Given the description of an element on the screen output the (x, y) to click on. 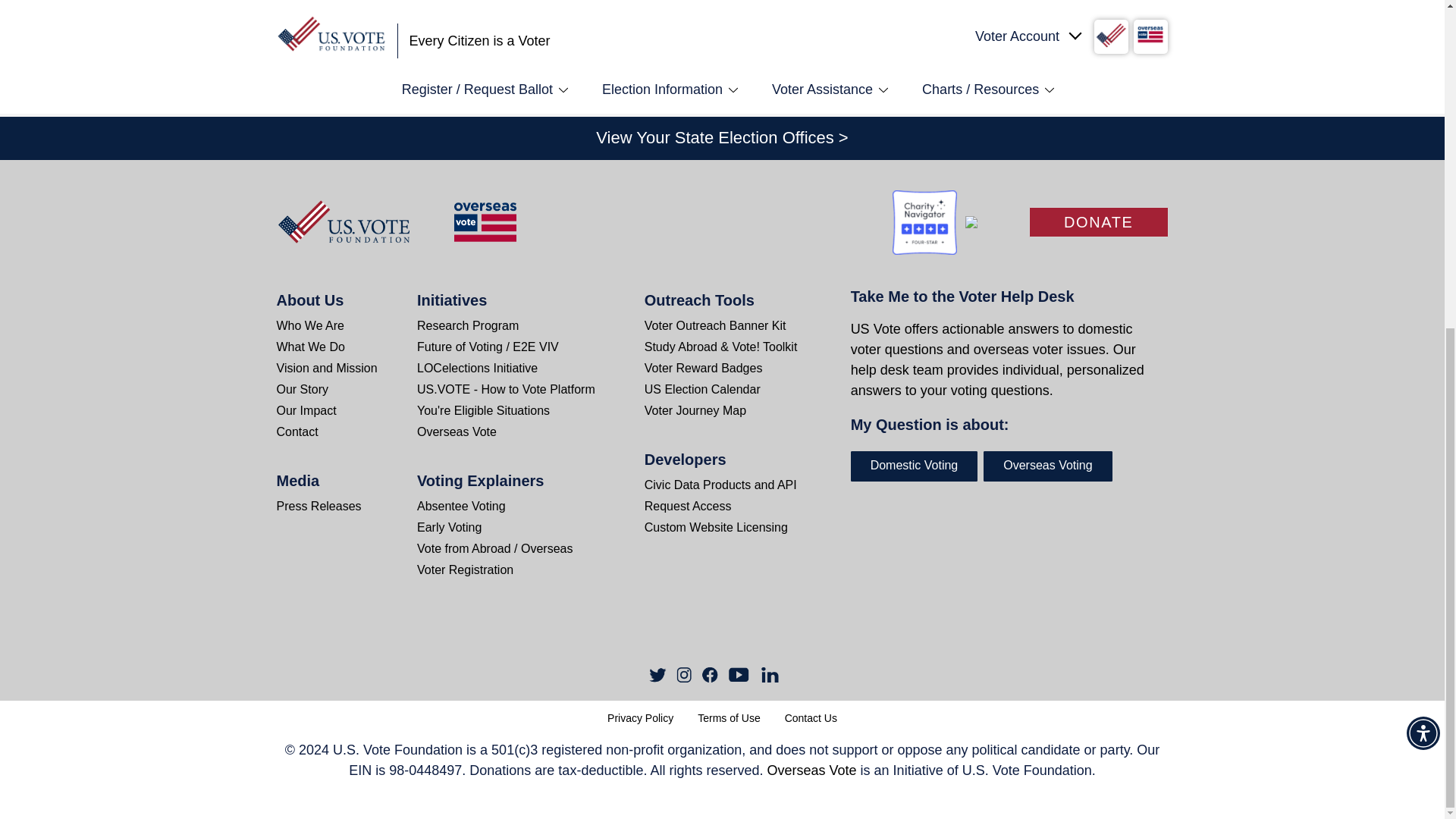
Find out about the Overseas Vote Initiative (529, 432)
A Discussion about Absentee Voting in the United States (508, 506)
Interactive tool to build your personal voter journey map. (736, 410)
Your Guide to How to Vote in America (529, 389)
Accessibility Menu (1422, 191)
Guide to Early Voting in Your State - A Voting Explainer (508, 527)
YES presents voting solutions to complex situations (529, 410)
A Guide to Overseas Absentee Voting (508, 548)
